Given the description of an element on the screen output the (x, y) to click on. 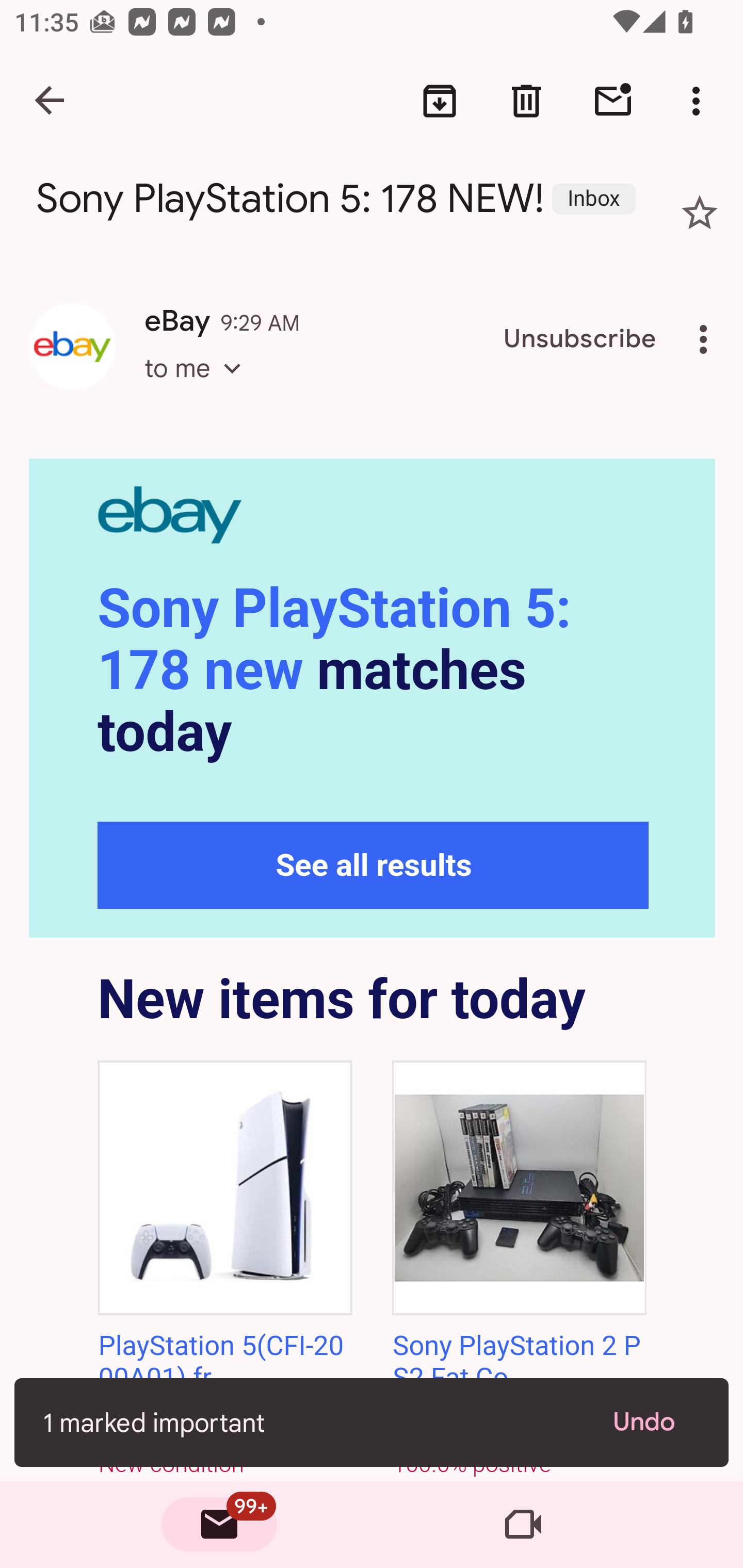
Navigate up (50, 101)
Archive (439, 101)
Delete (525, 101)
Mark unread (612, 101)
More options (699, 101)
Add star (699, 212)
Unsubscribe (579, 339)
More options (706, 339)
Show contact information for eBay (71, 346)
to me (199, 386)
eBay (372, 517)
Sony PlayStation 5: 178 new (334, 639)
See all results (373, 865)
PlayStation 5(CFI-2000A01) fr… (220, 1361)
Sony PlayStation 2 PS2 Fat Co… (515, 1361)
Undo (655, 1422)
Meet (523, 1524)
